Given the description of an element on the screen output the (x, y) to click on. 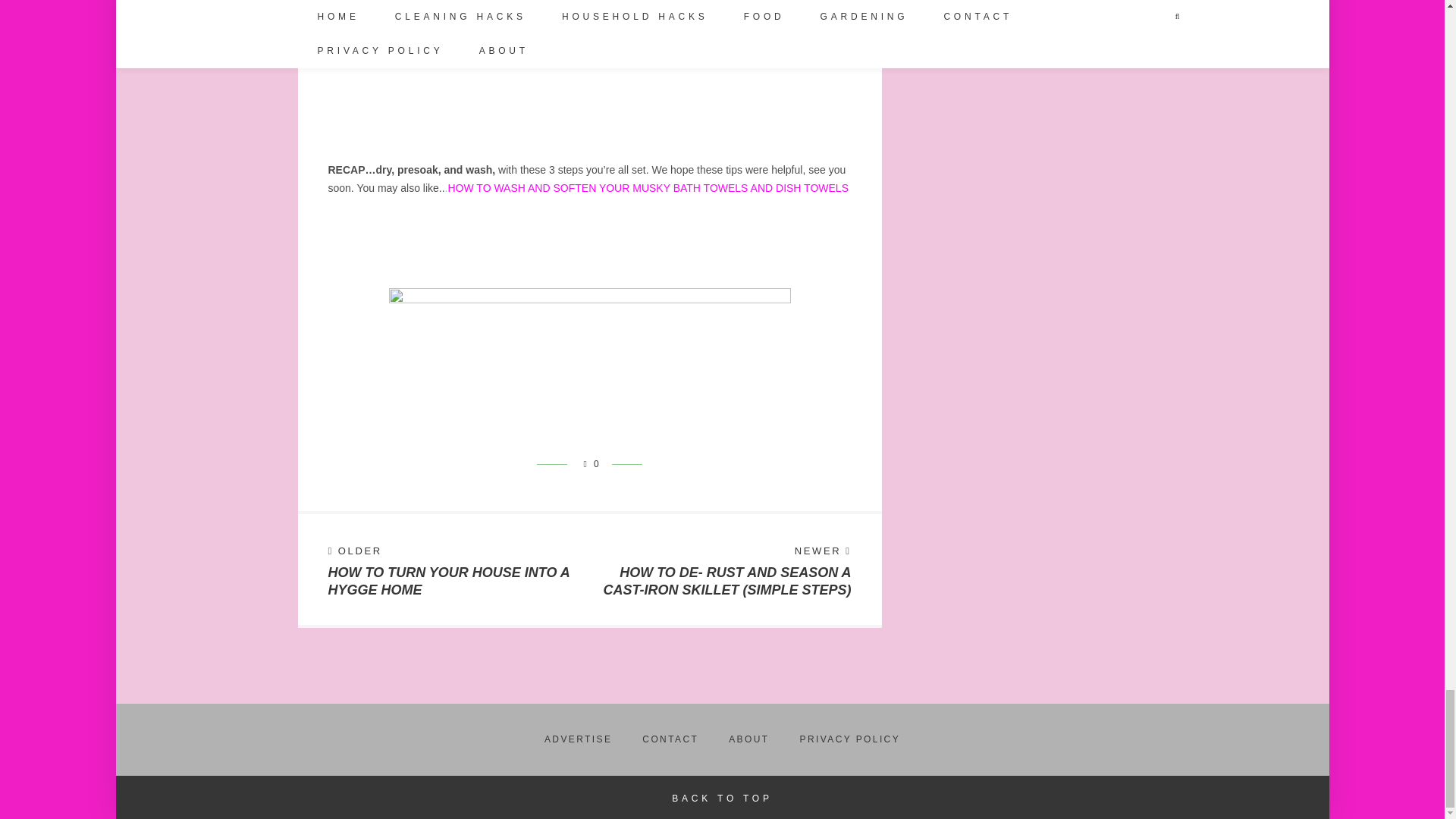
CONTACT (670, 739)
PRIVACY POLICY (850, 739)
0 (452, 569)
ADVERTISE (588, 463)
ABOUT (577, 739)
